Given the description of an element on the screen output the (x, y) to click on. 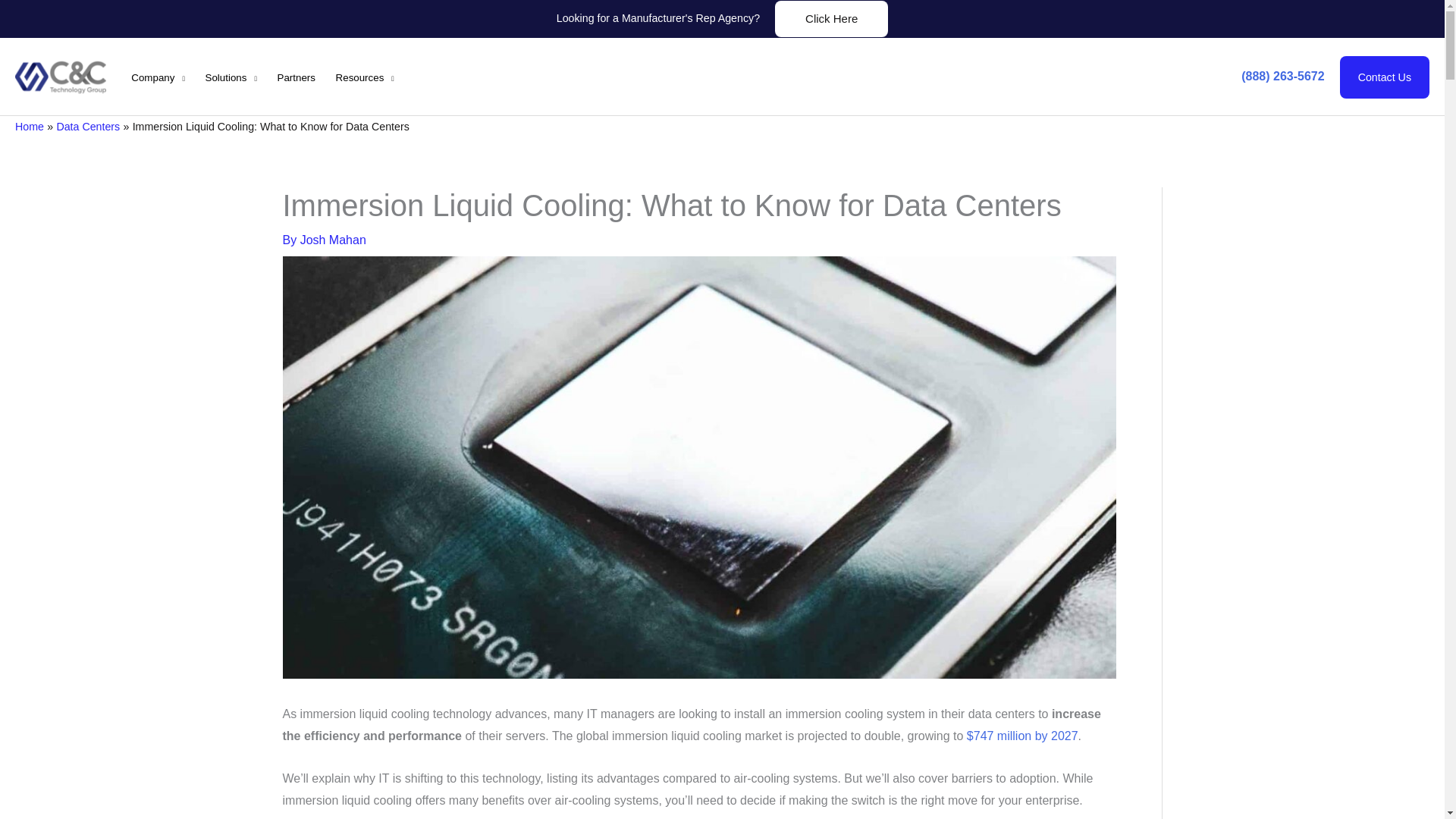
Click Here (831, 18)
Company (157, 77)
View all posts by Josh Mahan (332, 239)
Contact Us (1384, 77)
Looking for a Manufacturer's Rep Agency? (658, 18)
Resources (364, 77)
Partners (295, 77)
Solutions (230, 77)
